Given the description of an element on the screen output the (x, y) to click on. 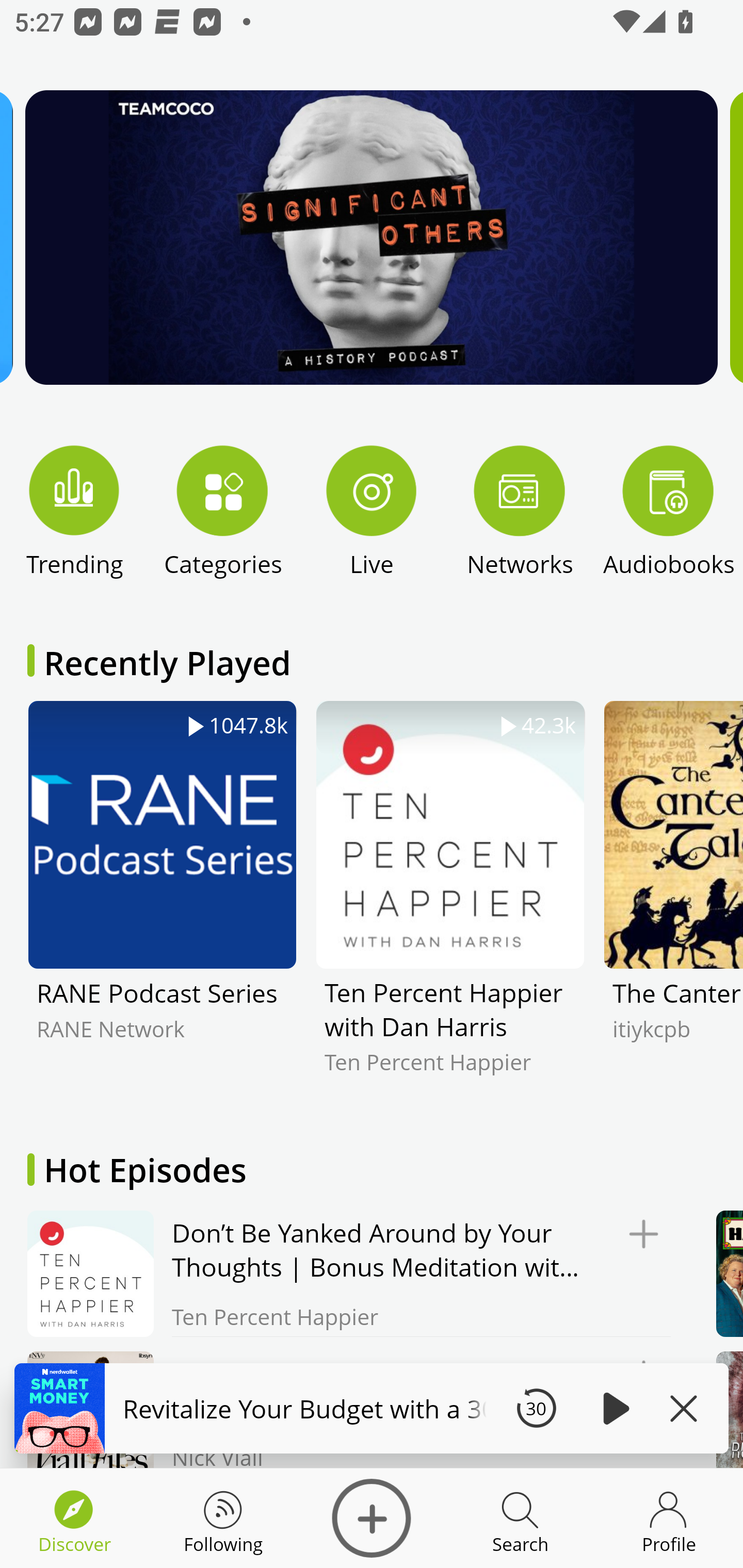
1047.8k RANE Podcast Series RANE Network (162, 902)
The Canterbury Tales itiykcpb (673, 902)
Play (613, 1407)
30 Seek Backward (536, 1407)
Discover Following (222, 1518)
Discover (371, 1518)
Discover Search (519, 1518)
Discover Profile (668, 1518)
